Given the description of an element on the screen output the (x, y) to click on. 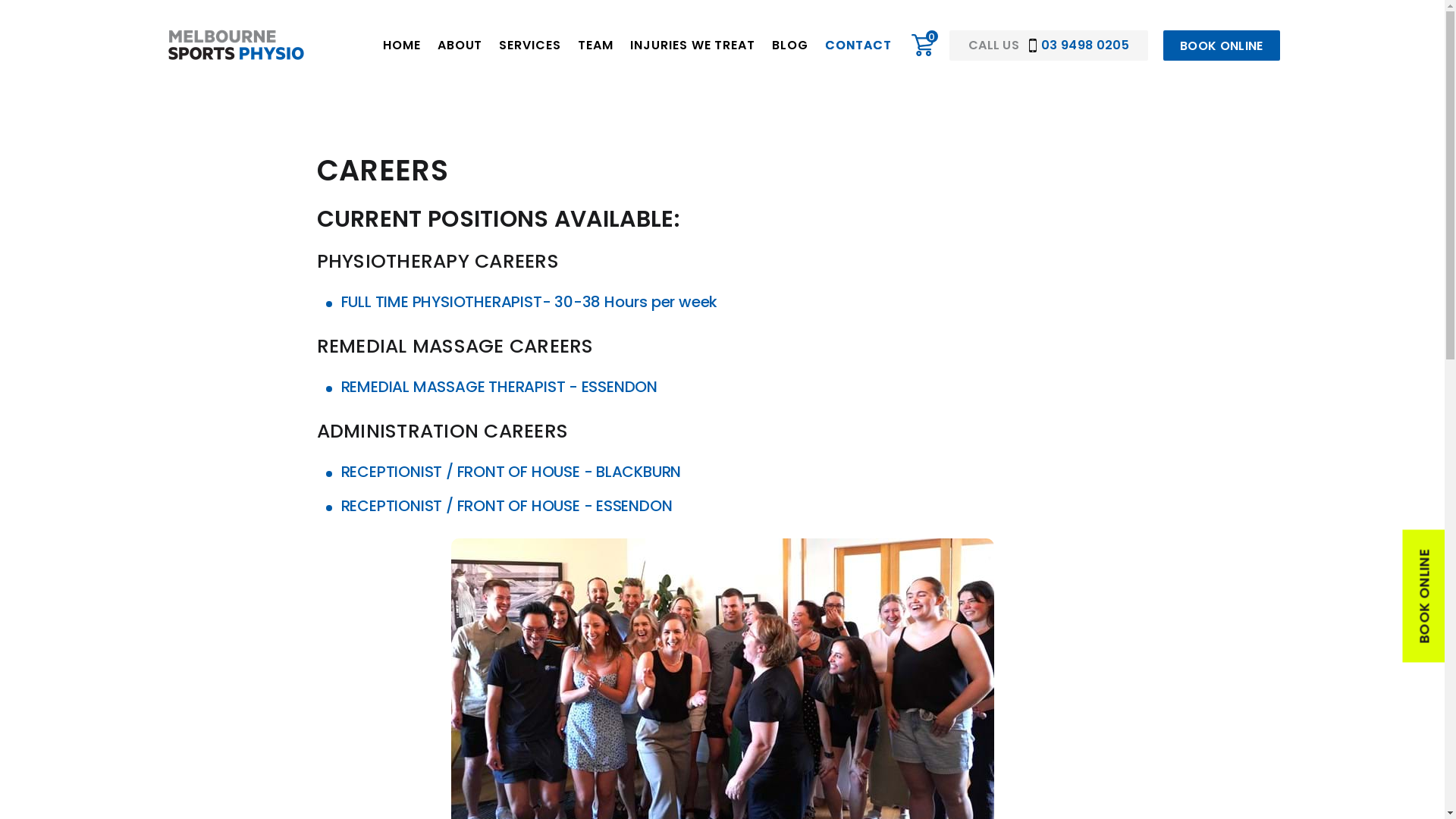
REMEDIAL MASSAGE THERAPIST - ESSENDON Element type: text (499, 386)
HOME Element type: text (401, 45)
ABOUT Element type: text (460, 45)
03 9498 0205 Element type: text (1079, 44)
- 30-38 Hours per week Element type: text (630, 301)
CONTACT Element type: text (858, 45)
RECEPTIONIST / FRONT OF HOUSE - ESSENDON Element type: text (506, 505)
TEAM Element type: text (595, 45)
FULL TIME PHYSIOTHERAPIST Element type: text (441, 301)
BOOK ONLINE Element type: text (1221, 45)
RECEPTIONIST / FRONT OF HOUSE - BLACKBURN Element type: text (511, 471)
SERVICES Element type: text (529, 45)
0 Element type: text (922, 45)
INJURIES WE TREAT Element type: text (692, 45)
BLOG Element type: text (789, 45)
